Given the description of an element on the screen output the (x, y) to click on. 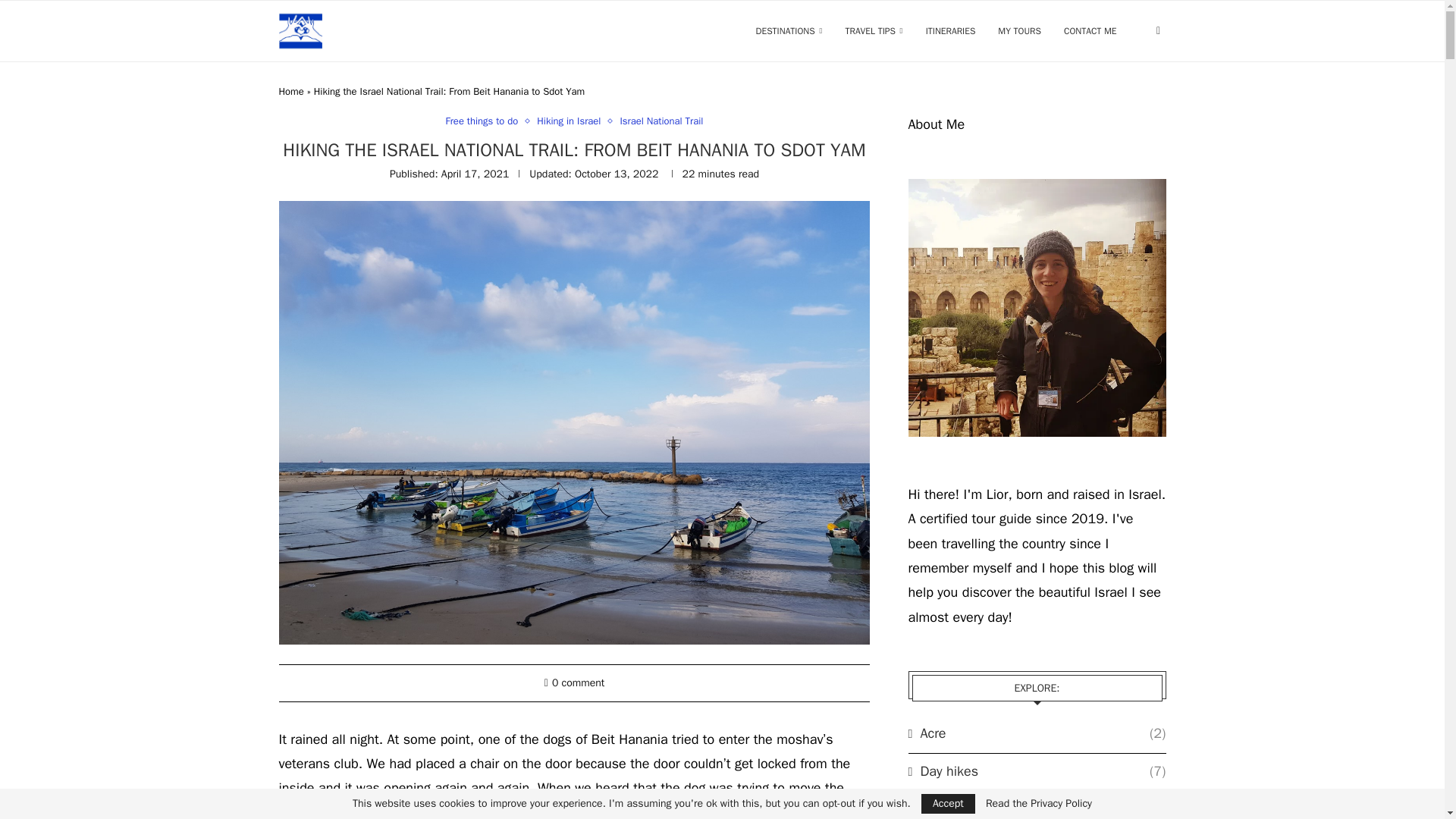
DESTINATIONS (788, 30)
Free things to do (485, 121)
Home (291, 91)
Hiking in Israel (572, 121)
Israel National Trail (661, 121)
TRAVEL TIPS (873, 30)
